Given the description of an element on the screen output the (x, y) to click on. 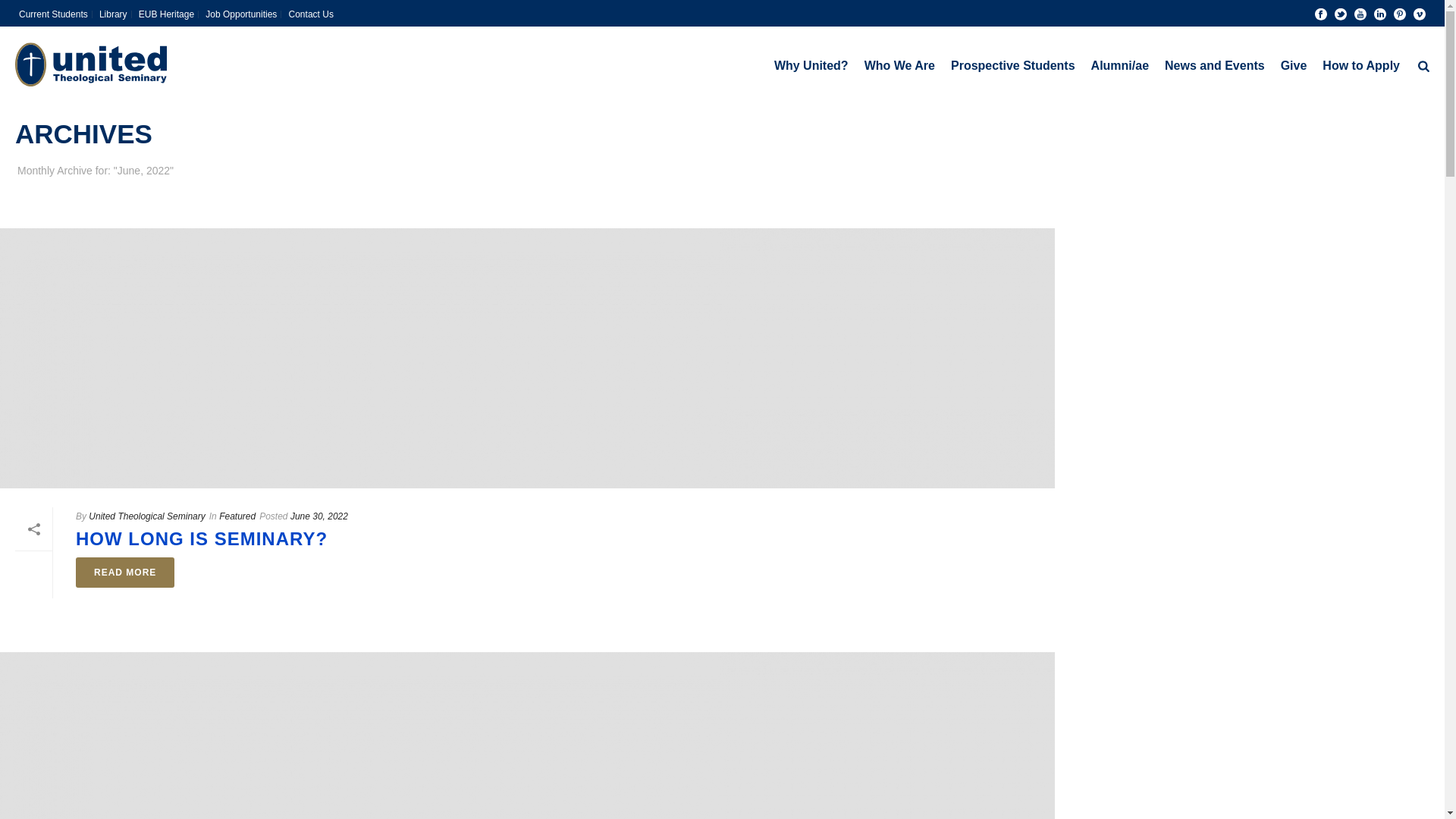
Why United? (811, 64)
Current Students (53, 14)
READ MORE (124, 572)
Contact Us (311, 14)
Prospective Students (1013, 64)
Posts by United Theological Seminary (146, 516)
Who We Are (899, 64)
Job Opportunities (241, 14)
Spirit led. Renewing the church. (90, 64)
Who We Are (899, 64)
Why United? (811, 64)
Library (114, 14)
News and Events (1214, 64)
Give (1293, 64)
